Given the description of an element on the screen output the (x, y) to click on. 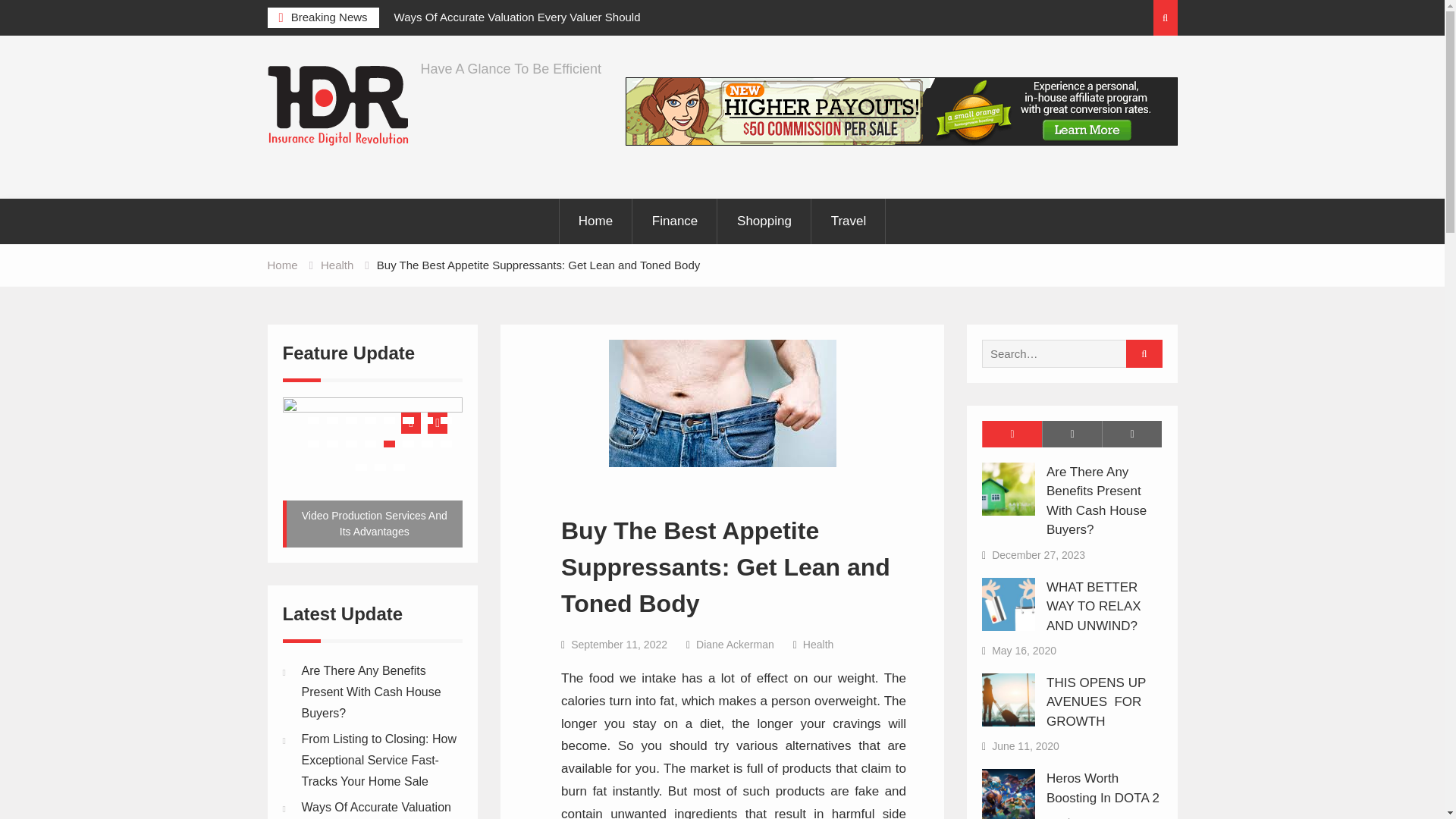
Search for: (1067, 353)
Home (281, 264)
Ways Of Accurate Valuation Every Valuer Should Know  (531, 27)
Travel (849, 221)
Finance (675, 221)
Are There Any Benefits Present With Cash House Buyers? (1096, 501)
Shopping (763, 221)
Health (336, 264)
Health (817, 644)
September 11, 2022 (618, 644)
Diane Ackerman (734, 644)
Home (595, 221)
